Given the description of an element on the screen output the (x, y) to click on. 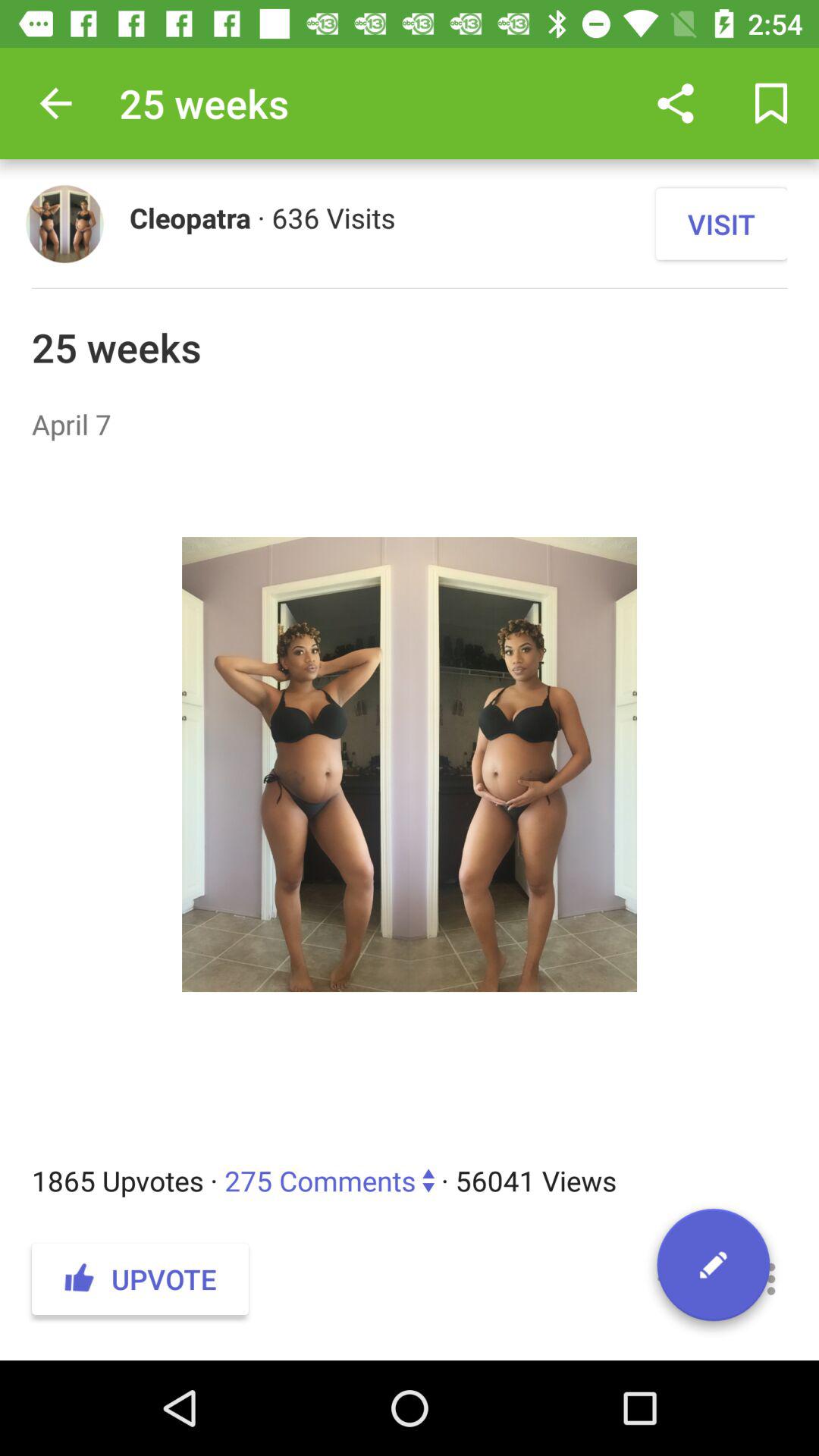
scroll until the april 7 icon (409, 424)
